Given the description of an element on the screen output the (x, y) to click on. 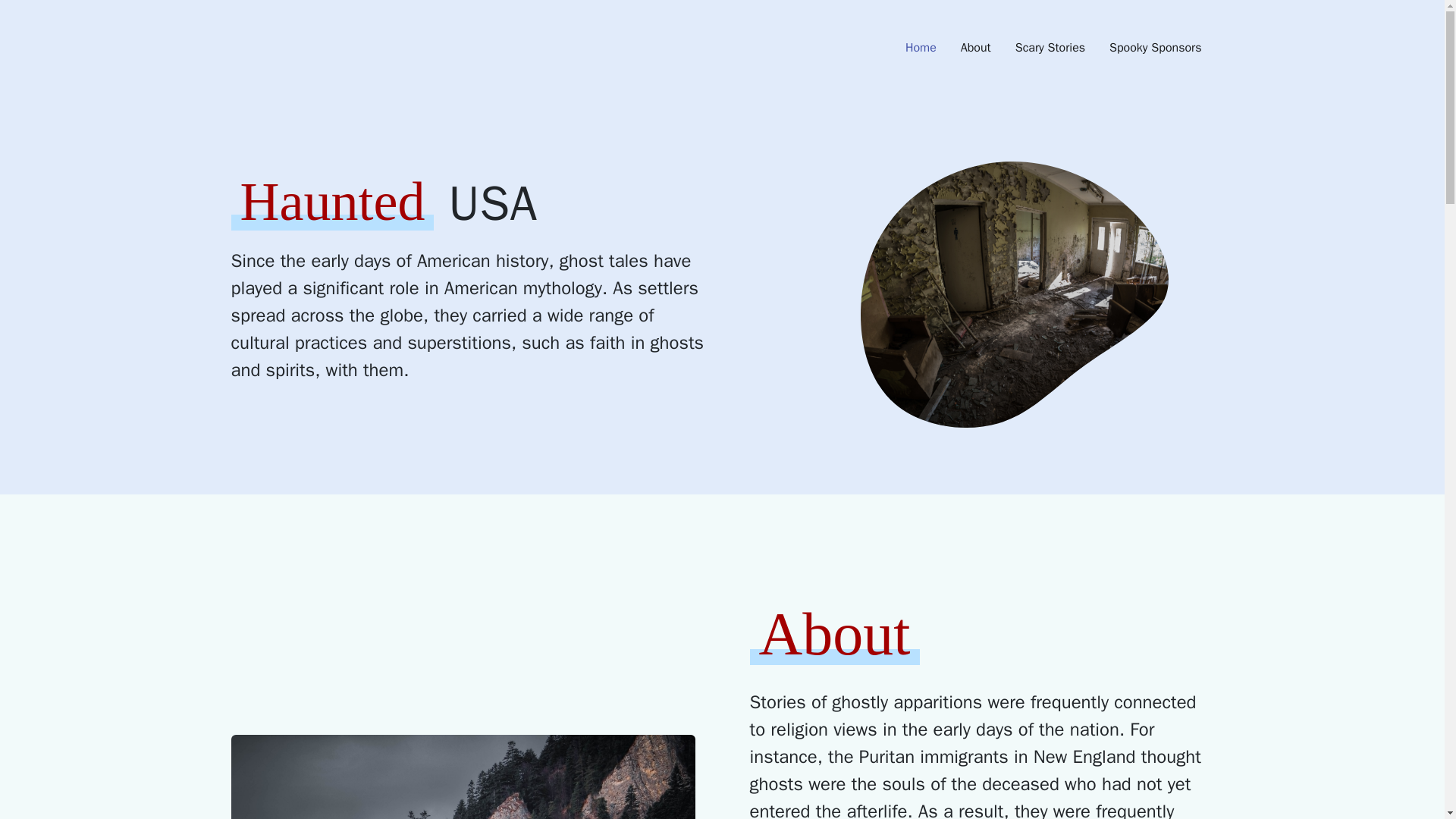
Scary Stories (1050, 46)
About (976, 46)
Spooky Sponsors (1154, 46)
Home (921, 46)
